Given the description of an element on the screen output the (x, y) to click on. 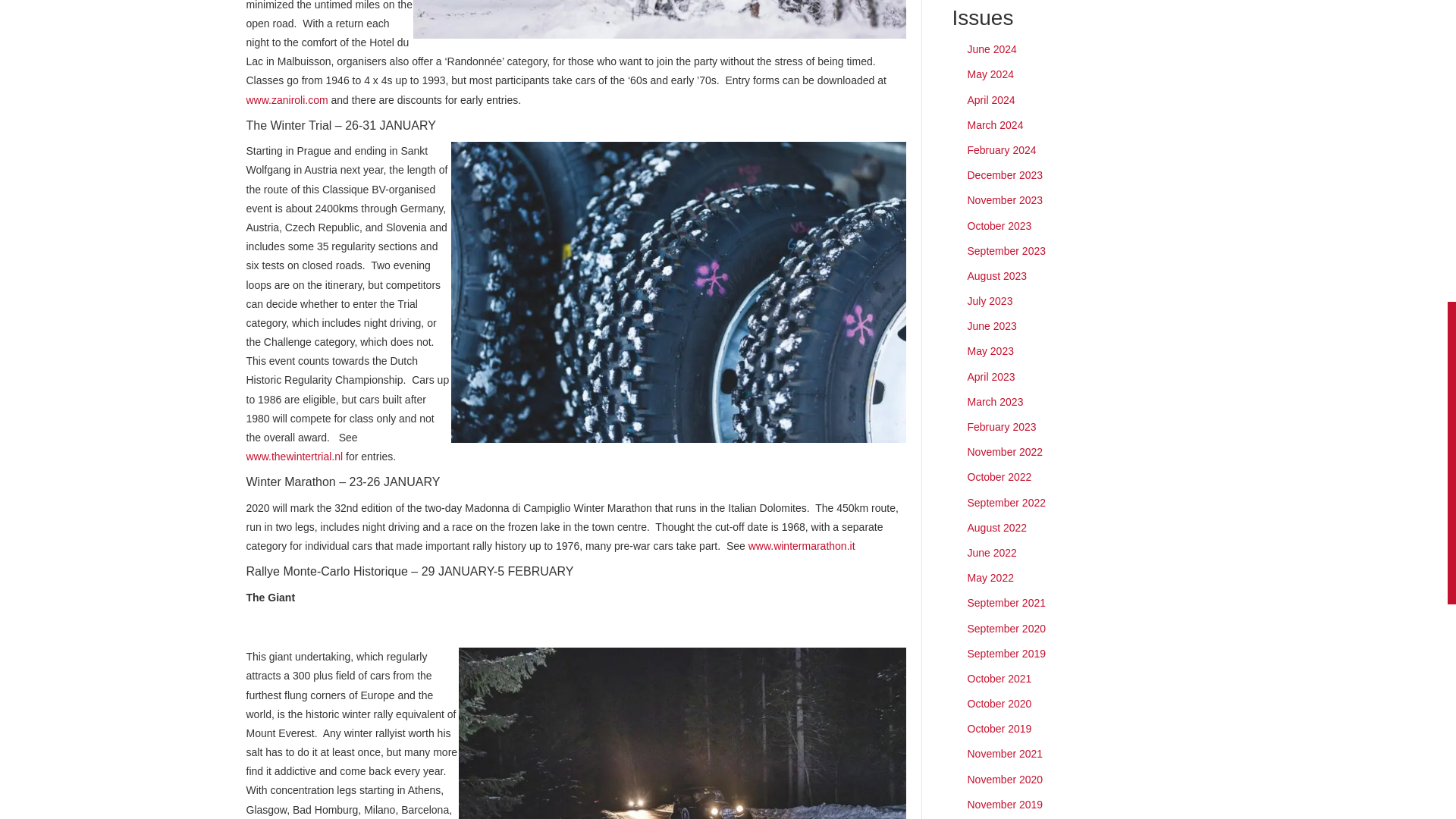
www.thewintertrial.nl (294, 456)
www.wintermarathon.it   (804, 545)
April 2024 (991, 100)
May 2024 (990, 73)
June 2024 (992, 49)
www.zaniroli.com (286, 100)
